Given the description of an element on the screen output the (x, y) to click on. 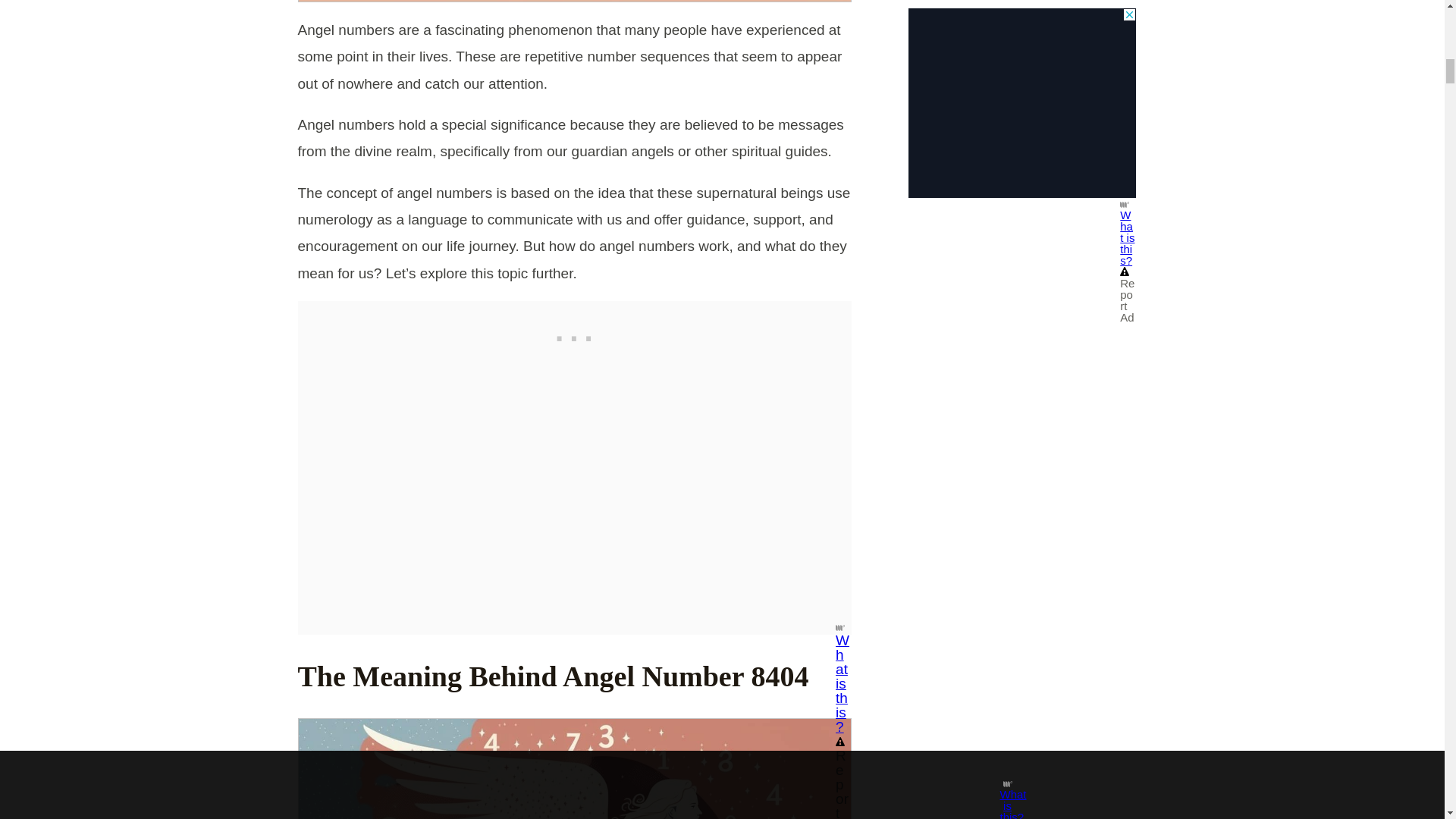
3rd party ad content (574, 335)
The Meaning Behind Angel Number 8404 (574, 768)
